Given the description of an element on the screen output the (x, y) to click on. 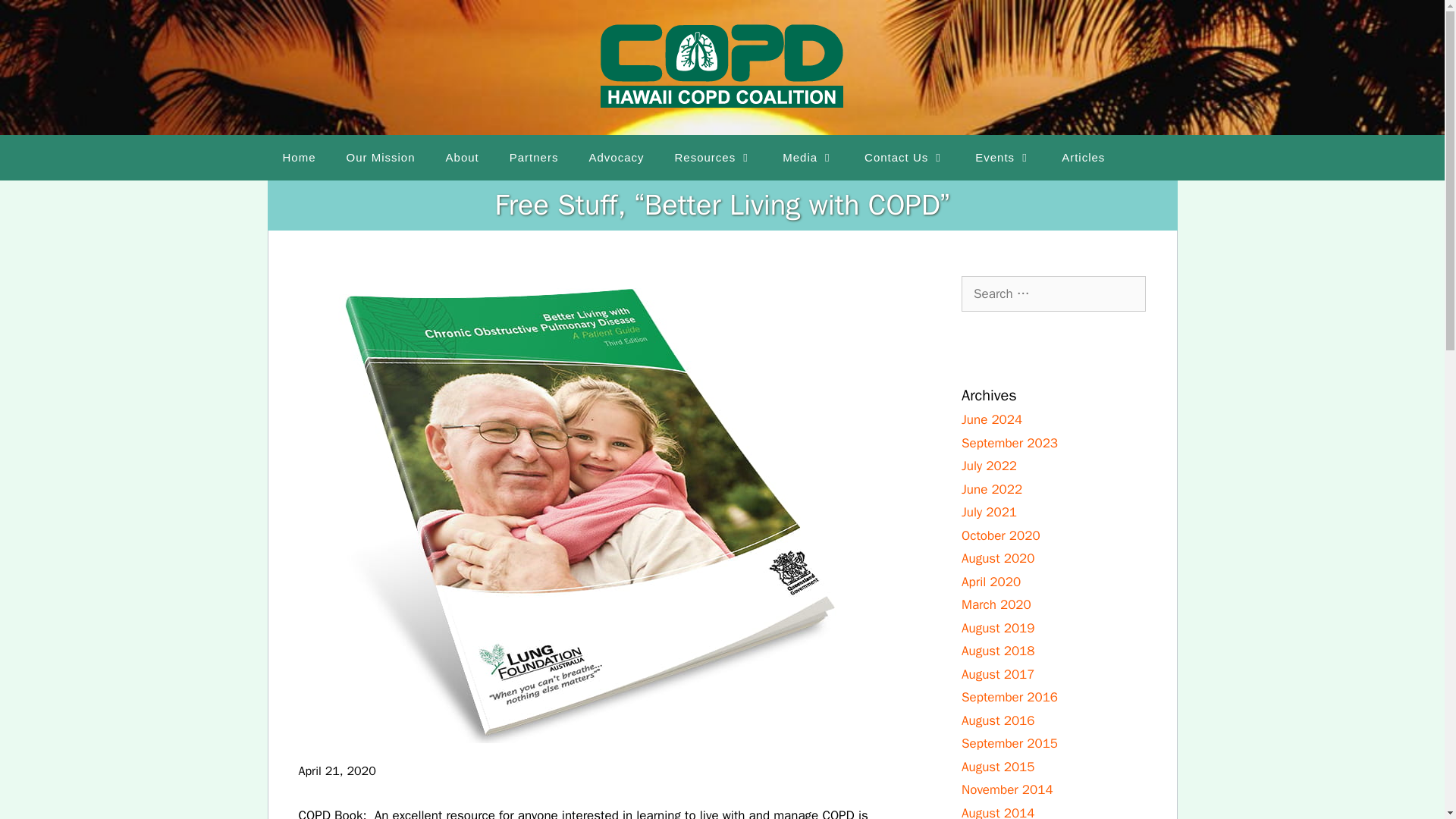
Media (807, 157)
Our Mission (380, 157)
About (462, 157)
Contact Us (903, 157)
Articles (1082, 157)
Events (1002, 157)
Advocacy (616, 157)
Partners (534, 157)
Search for: (1052, 294)
Resources (713, 157)
